Given the description of an element on the screen output the (x, y) to click on. 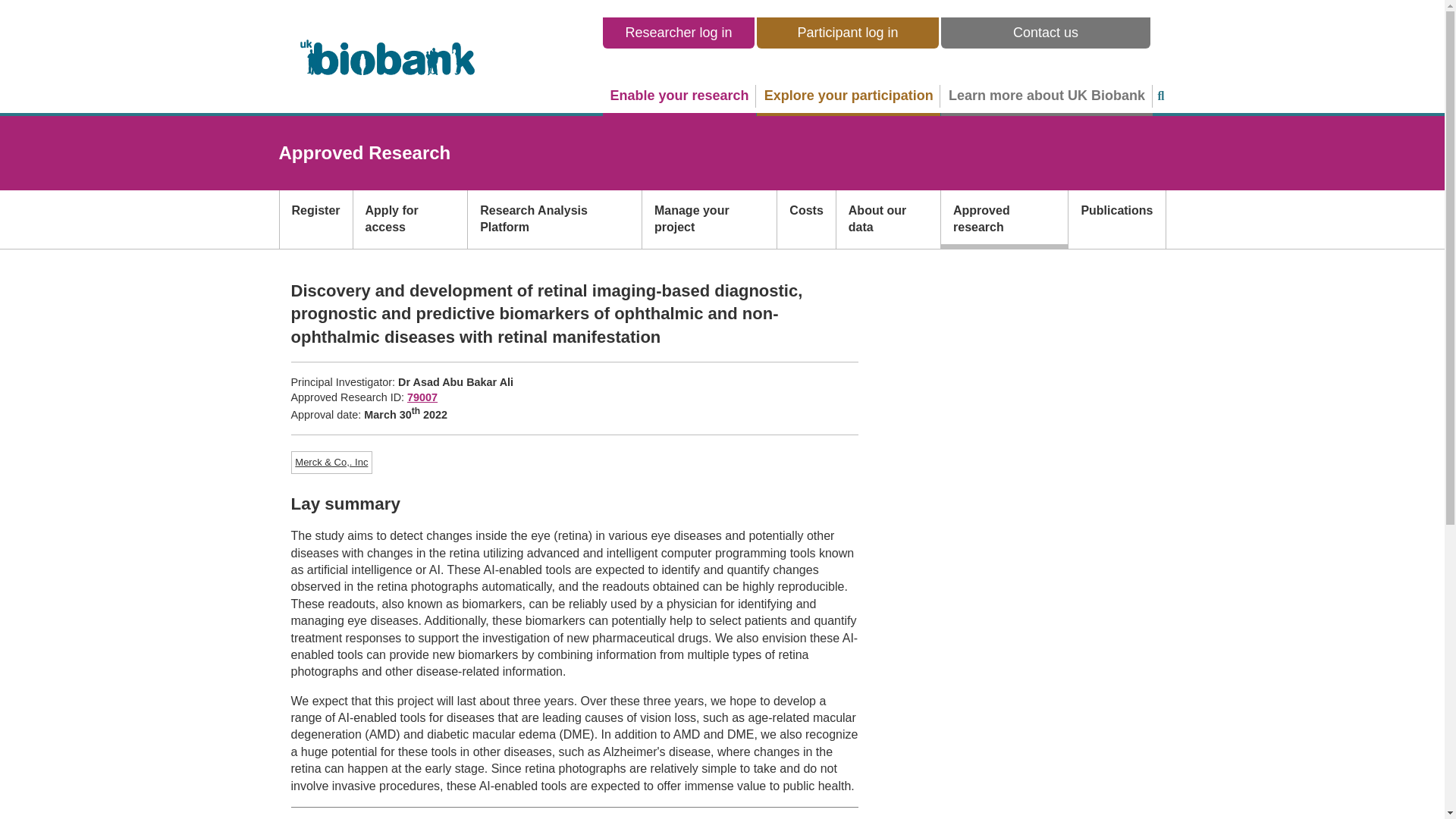
Enable your research (678, 96)
Learn more about UK Biobank (1045, 96)
Search (1161, 96)
Contact us (1045, 32)
Explore your participation (848, 96)
Participant log in (848, 32)
Register (315, 219)
Researcher log in (678, 32)
